Given the description of an element on the screen output the (x, y) to click on. 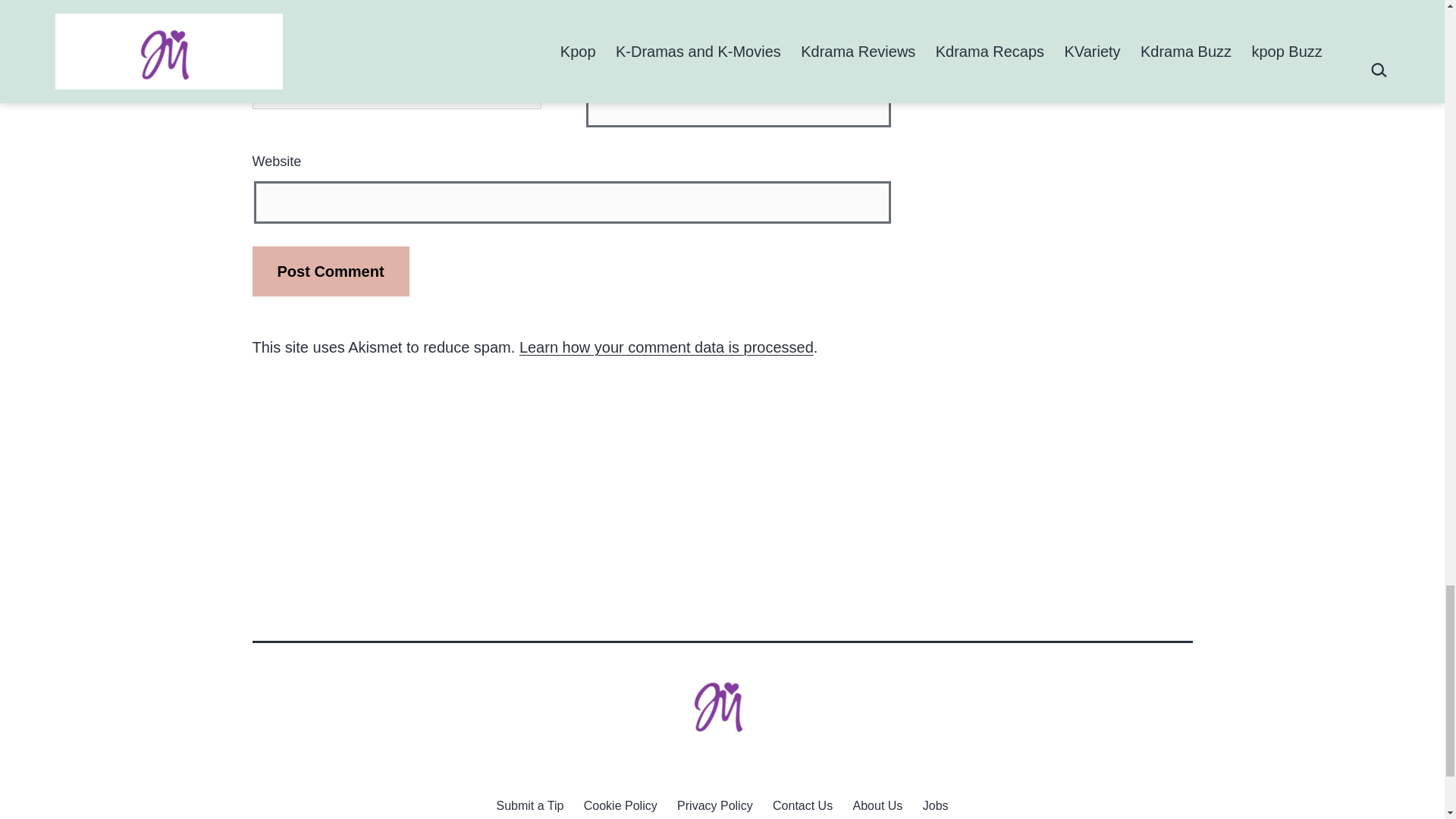
Post Comment (330, 271)
Post Comment (330, 271)
Learn how your comment data is processed (666, 347)
